Given the description of an element on the screen output the (x, y) to click on. 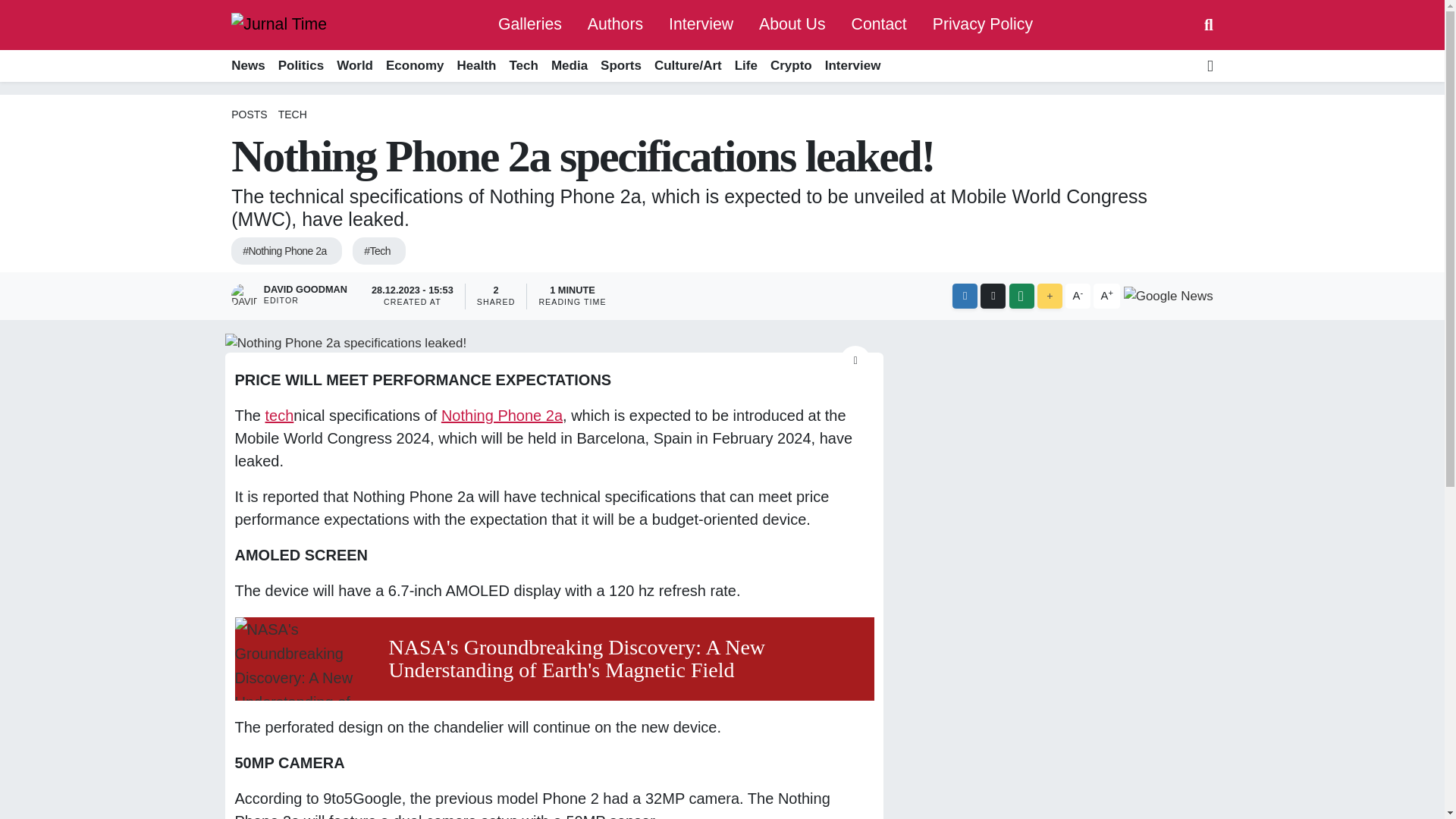
Economy (413, 65)
Tech (523, 65)
Sports (620, 65)
Jurnal Time (278, 24)
Media (569, 65)
Interview (700, 24)
Interview (700, 24)
Media (569, 65)
News (250, 65)
Interview (852, 65)
